Given the description of an element on the screen output the (x, y) to click on. 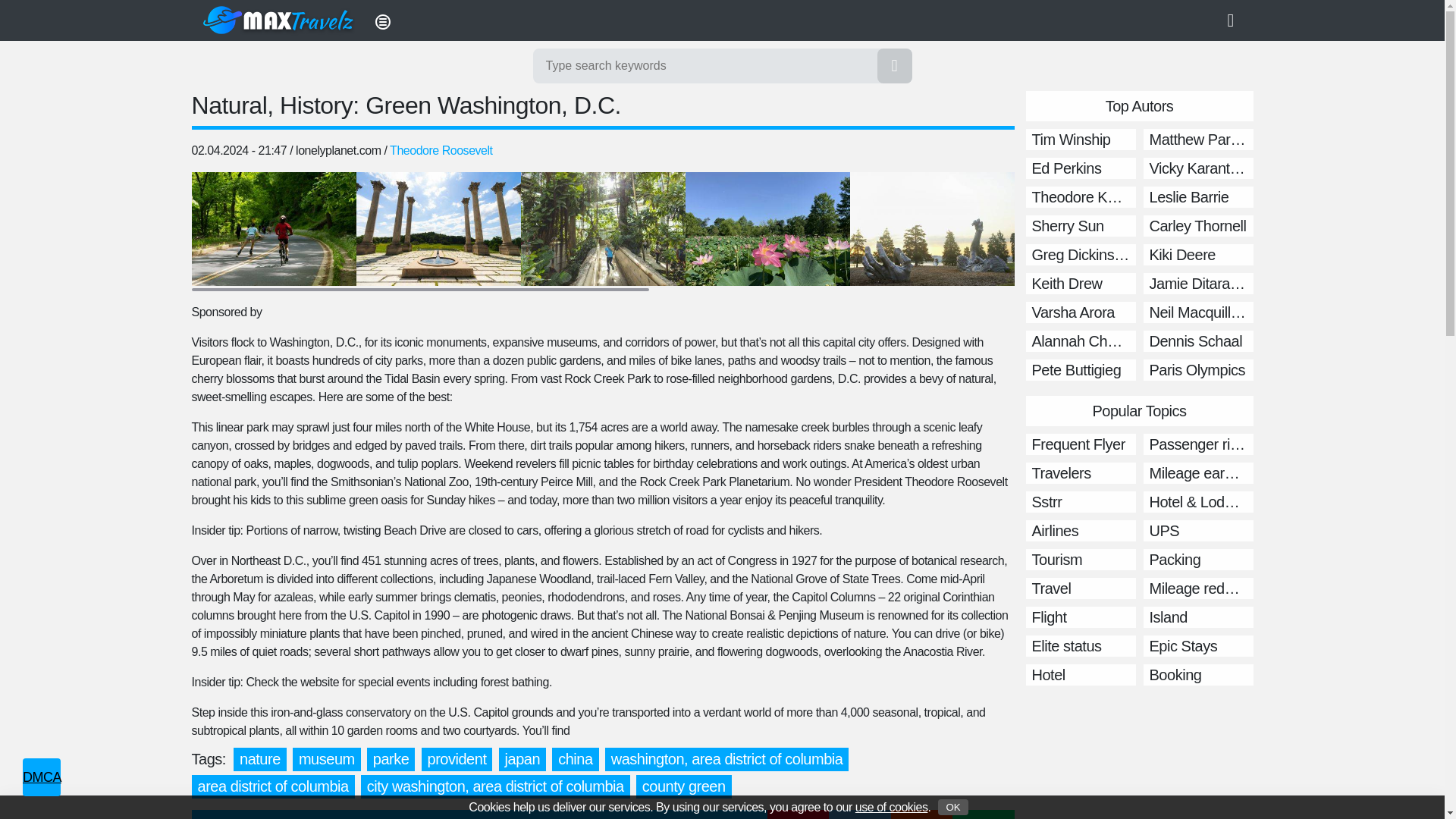
maxtravelz.com (279, 20)
Theodore Roosevelt (441, 150)
lonelyplanet.com (337, 150)
nature (259, 759)
DARK MODE (1235, 20)
